Given the description of an element on the screen output the (x, y) to click on. 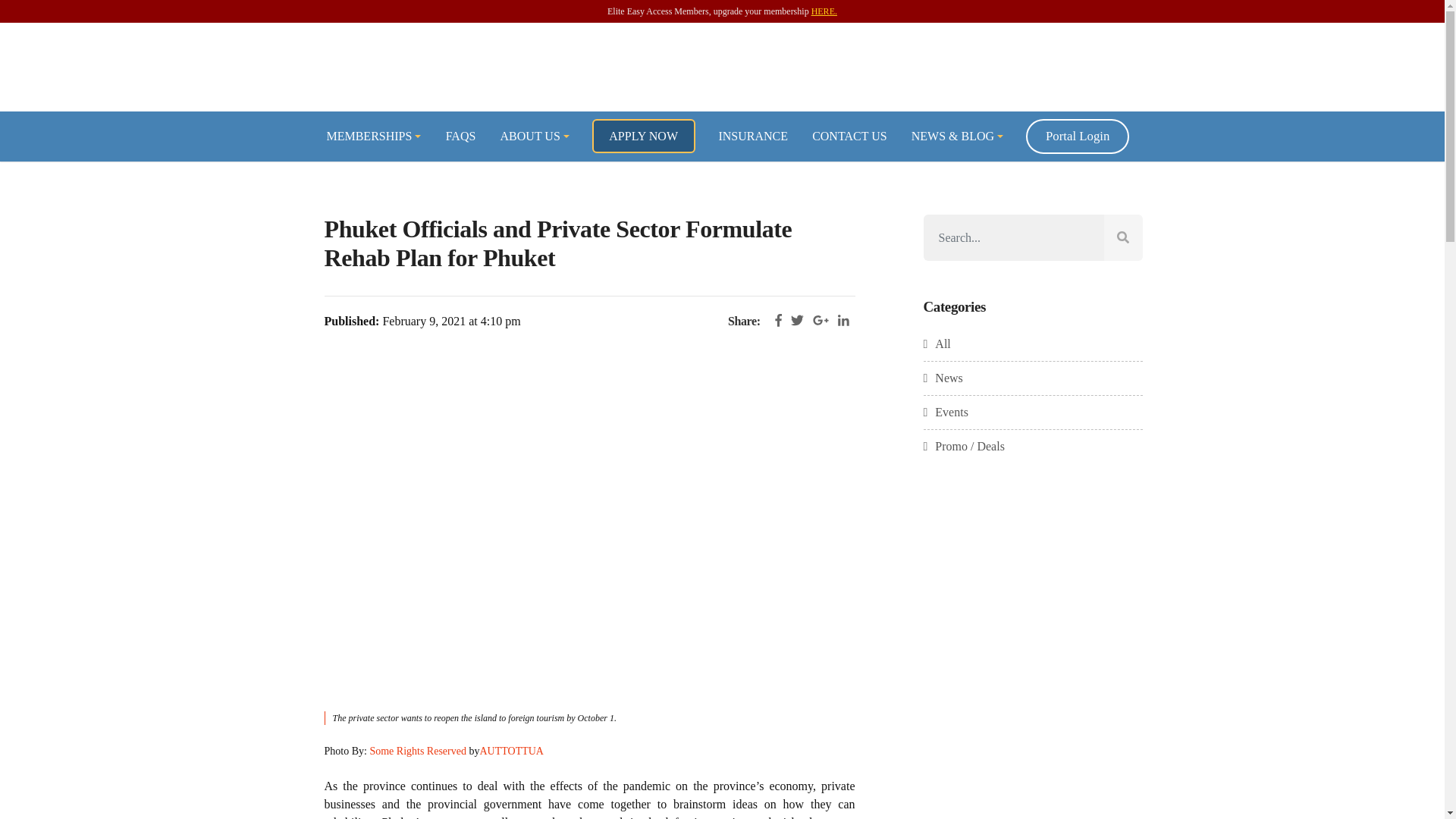
ABOUT US (534, 135)
Some Rights Reserved (417, 750)
INSURANCE (752, 135)
HERE. (823, 10)
Thailand Elite Visas (721, 67)
AUTTOTTUA (511, 750)
CONTACT US (850, 135)
Portal Login (1077, 135)
APPLY NOW (642, 135)
FAQS (460, 135)
